Given the description of an element on the screen output the (x, y) to click on. 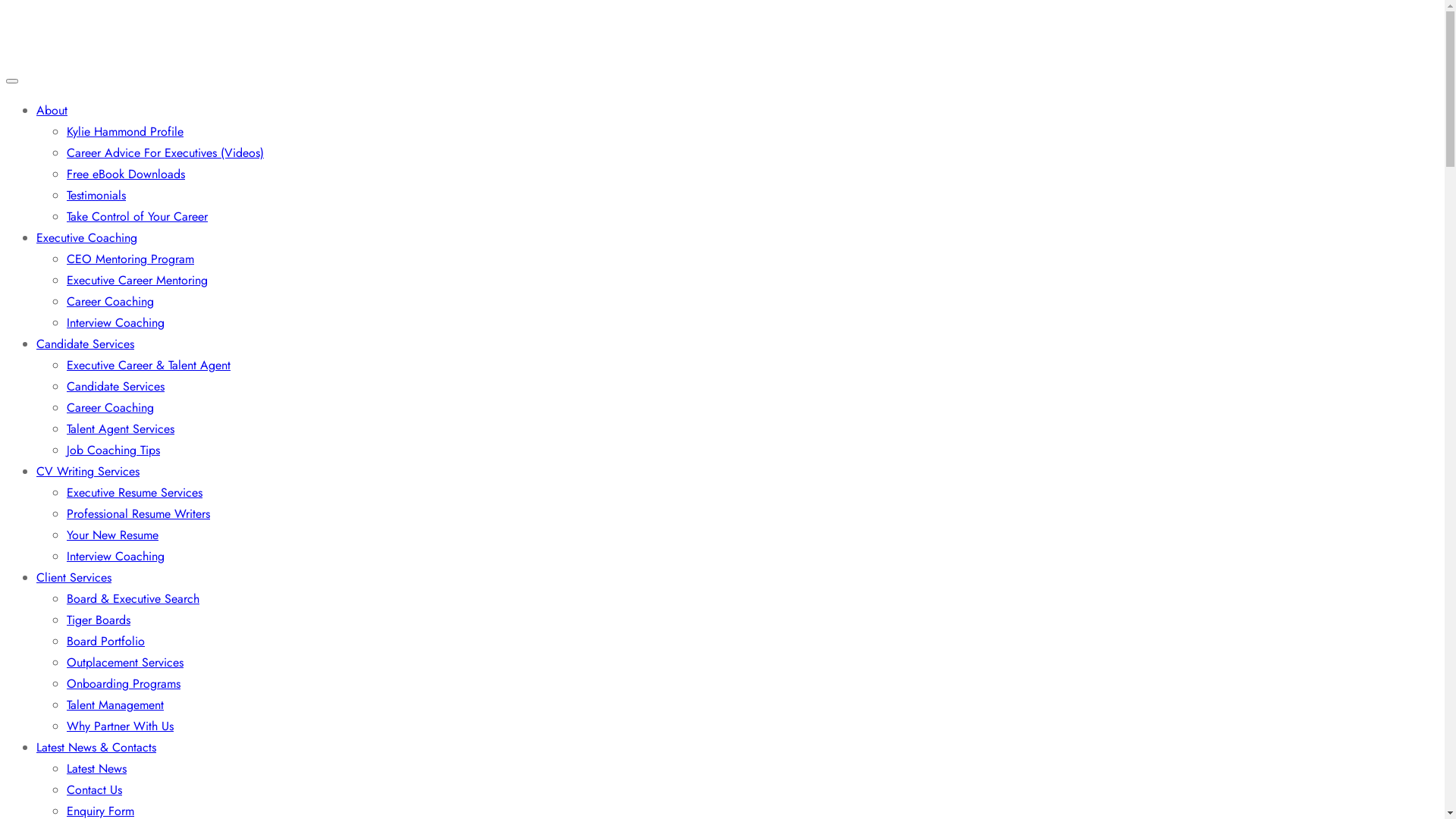
Latest News & Contacts Element type: text (96, 747)
Onboarding Programs Element type: text (123, 683)
Career Coaching Element type: text (109, 301)
Talent Management Element type: text (114, 704)
Executive Career & Talent Agent Element type: text (148, 364)
Candidate Services Element type: text (115, 386)
Client Services Element type: text (73, 577)
Why Partner With Us Element type: text (119, 725)
Career Advice For Executives (Videos) Element type: text (164, 152)
Job Coaching Tips Element type: text (113, 449)
Talent Agent Services Element type: text (120, 428)
CV Writing Services Element type: text (87, 471)
Outplacement Services Element type: text (124, 662)
Candidate Services Element type: text (85, 343)
Kylie Hammond Profile Element type: text (124, 131)
Board & Executive Search Element type: text (132, 598)
Interview Coaching Element type: text (115, 555)
Executive Resume Services Element type: text (134, 492)
Professional Resume Writers Element type: text (138, 513)
Testimonials Element type: text (95, 194)
Take Control of Your Career Element type: text (136, 216)
Interview Coaching Element type: text (115, 322)
Tiger Boards Element type: text (98, 619)
CEO Mentoring Program Element type: text (130, 258)
Free eBook Downloads Element type: text (125, 173)
Your New Resume Element type: text (112, 534)
About Element type: text (51, 110)
Executive Career Mentoring Element type: text (136, 279)
Executive Coaching Element type: text (86, 237)
Board Portfolio Element type: text (105, 640)
Career Coaching Element type: text (109, 407)
Contact Us Element type: text (94, 789)
Latest News Element type: text (96, 768)
